Given the description of an element on the screen output the (x, y) to click on. 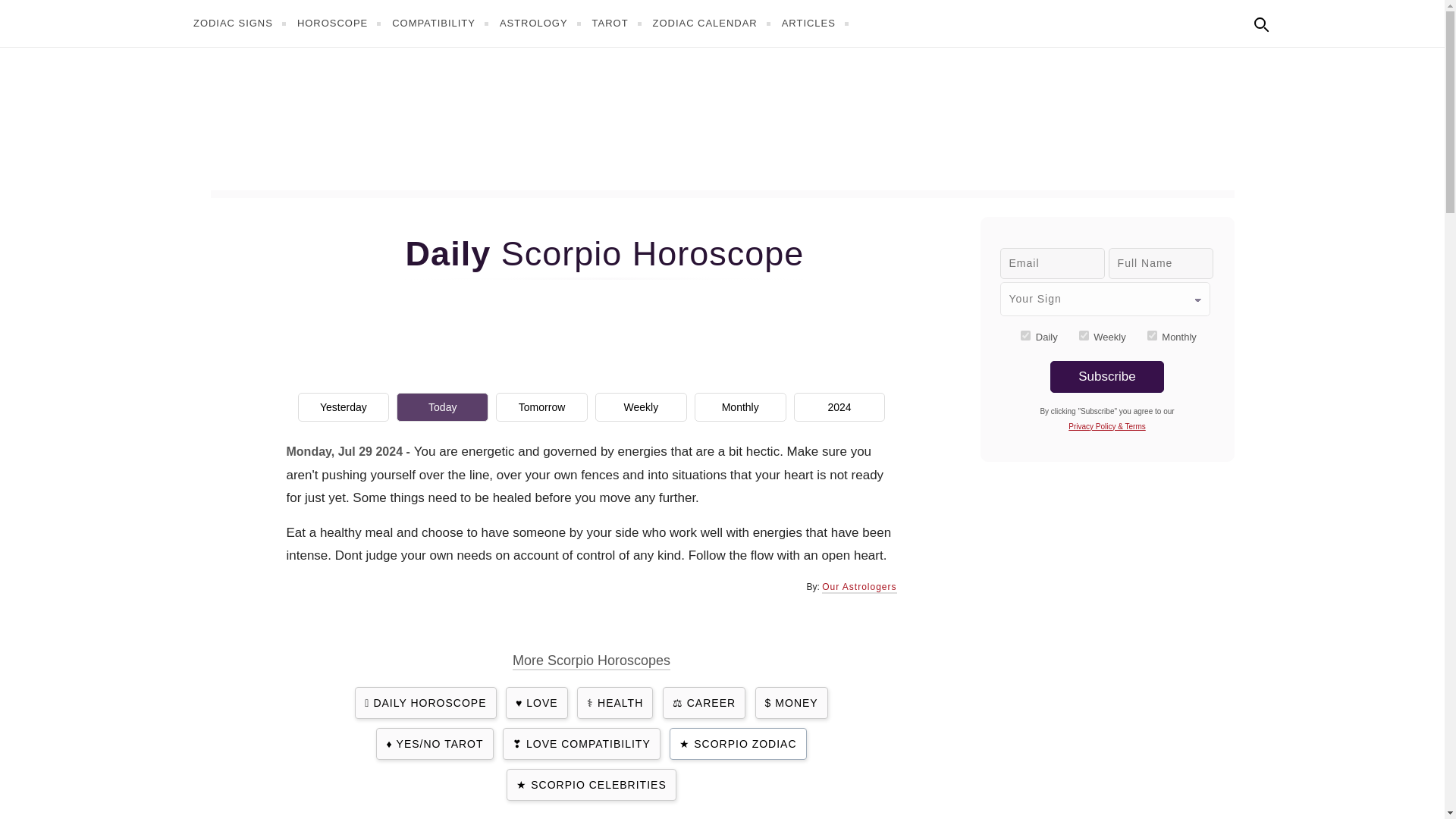
daily (1025, 335)
weekly (1083, 335)
monthly (1152, 335)
ZODIAC SIGNS (241, 23)
In English (1294, 21)
HOROSCOPE (341, 23)
